Given the description of an element on the screen output the (x, y) to click on. 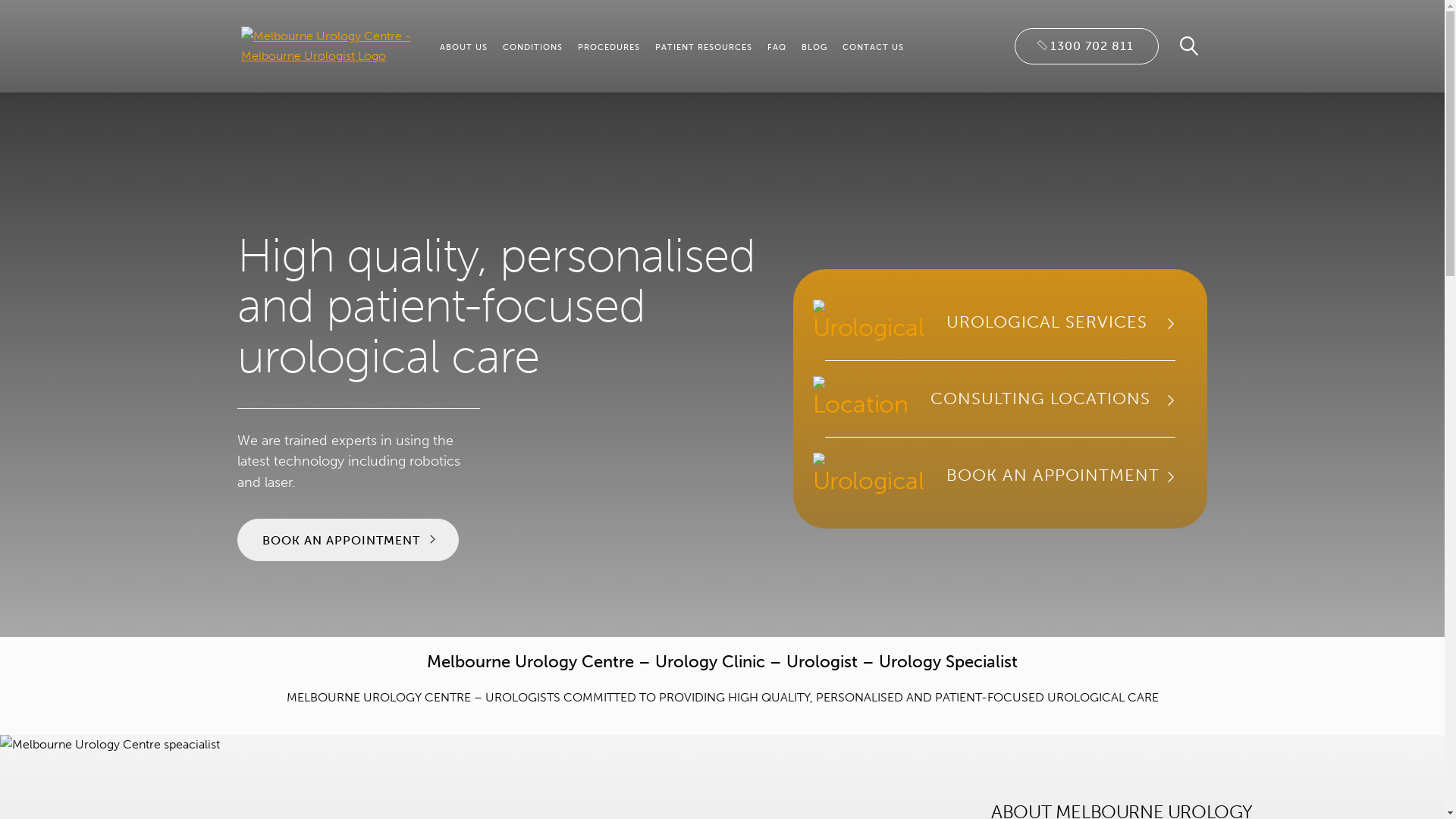
CONTACT US Element type: text (872, 47)
1300 702 811 Element type: text (1085, 46)
CONDITIONS Element type: text (531, 47)
BOOK AN APPOINTMENT Element type: text (347, 539)
UROLOGICAL SERVICES Element type: text (1000, 322)
BOOK AN APPOINTMENT Element type: text (1000, 475)
CONSULTING LOCATIONS Element type: text (1000, 398)
PATIENT RESOURCES Element type: text (703, 47)
BLOG Element type: text (813, 47)
PROCEDURES Element type: text (608, 47)
ABOUT US Element type: text (463, 47)
Search Element type: text (1175, 49)
Submit Element type: text (824, 525)
FAQ Element type: text (776, 47)
